Given the description of an element on the screen output the (x, y) to click on. 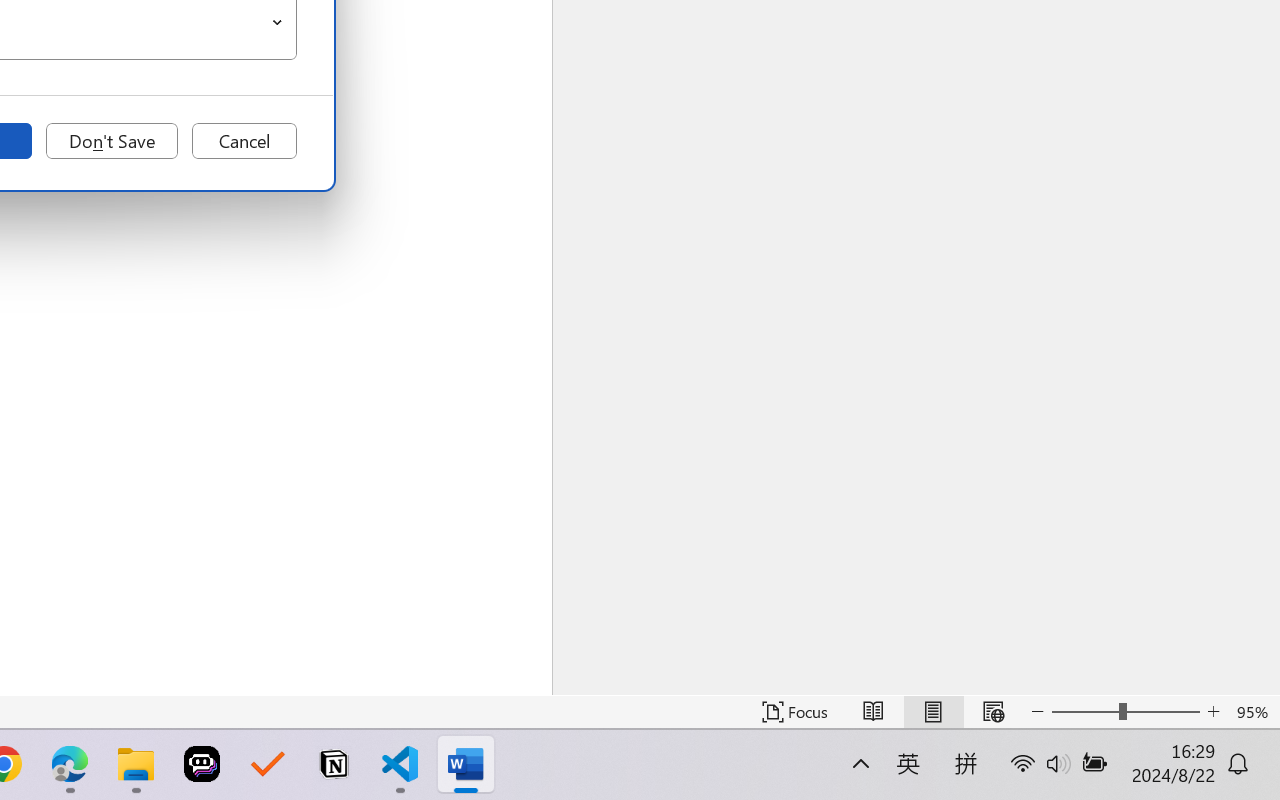
Don't Save (111, 141)
Notion (333, 764)
